Given the description of an element on the screen output the (x, y) to click on. 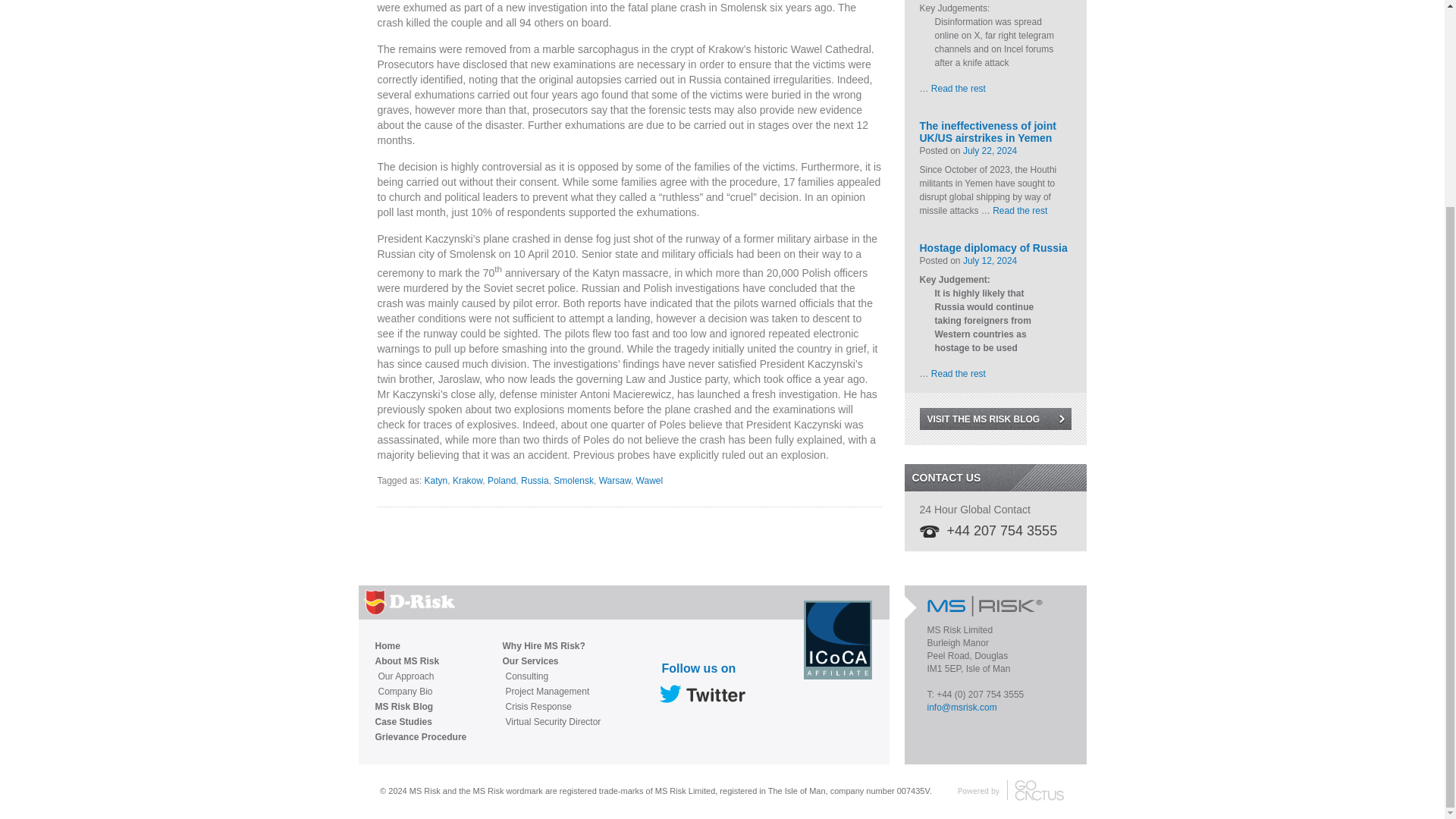
11:34 pm (989, 150)
Why Hire MS Risk? (550, 645)
Smolensk (573, 480)
Hostage diplomacy of Russia (994, 241)
Grievance Procedure (419, 736)
July 22, 2024 (989, 150)
Our Services (550, 661)
Warsaw (614, 480)
Katyn (436, 480)
About MS Risk (419, 661)
Home (419, 645)
Case Studies (419, 721)
Read the rest (958, 88)
Read the rest (1019, 210)
Our Approach (421, 676)
